Given the description of an element on the screen output the (x, y) to click on. 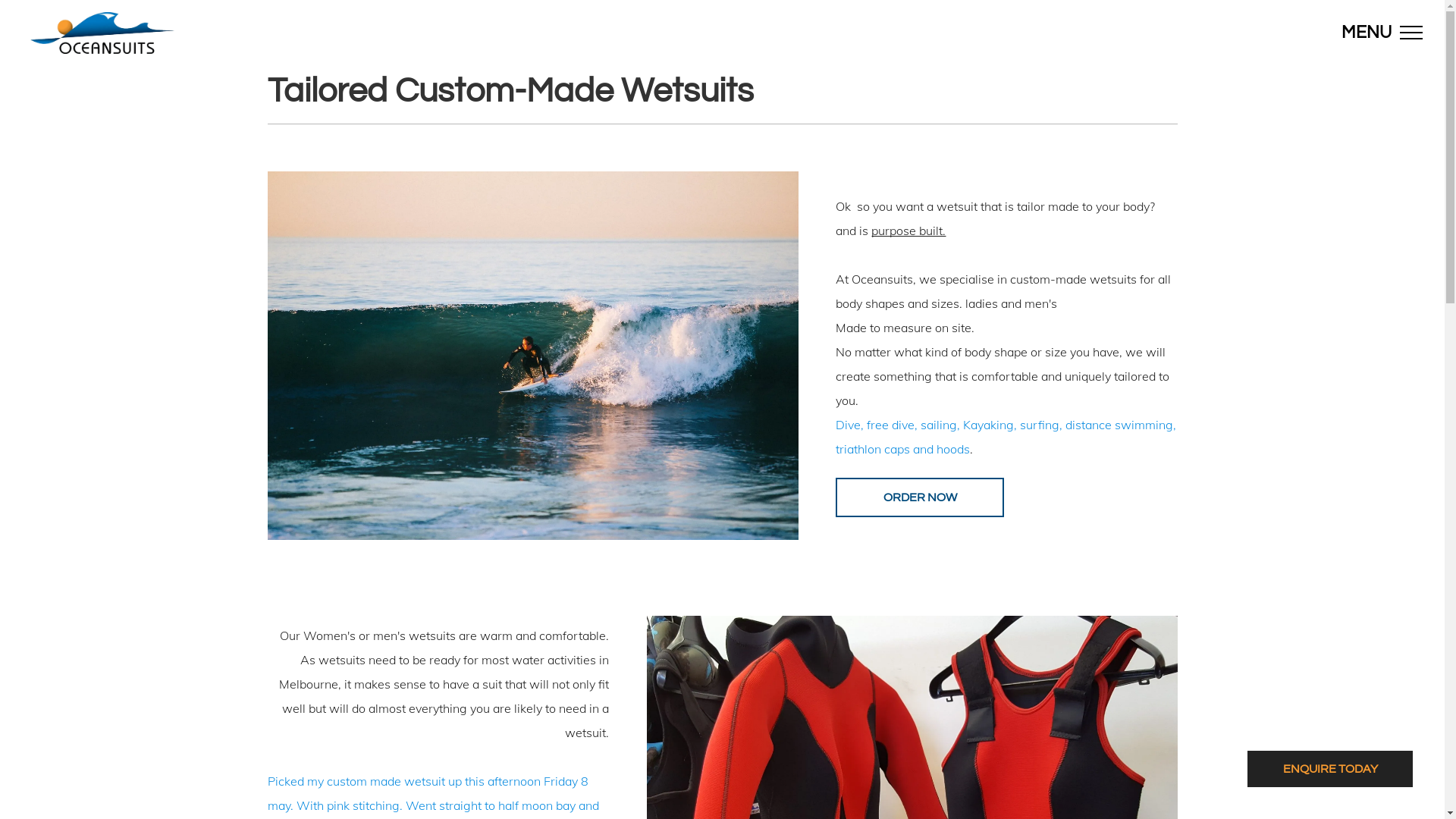
ENQUIRE TODAY Element type: text (1329, 768)
ORDER NOW Element type: text (919, 497)
